Given the description of an element on the screen output the (x, y) to click on. 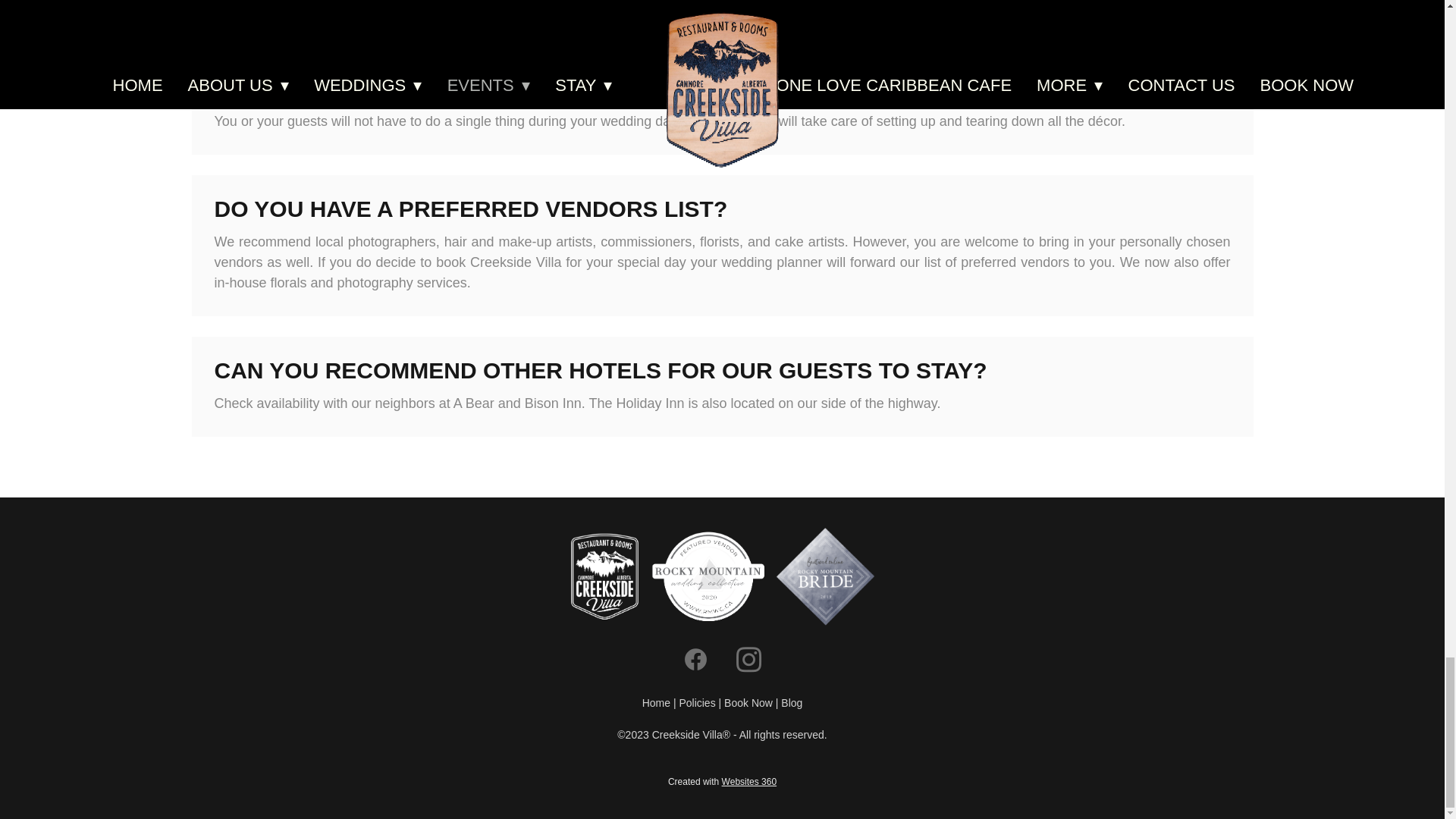
Book Now (748, 702)
Blog (791, 702)
Home (657, 702)
Policies (696, 702)
Created with Websites 360 (722, 781)
